Given the description of an element on the screen output the (x, y) to click on. 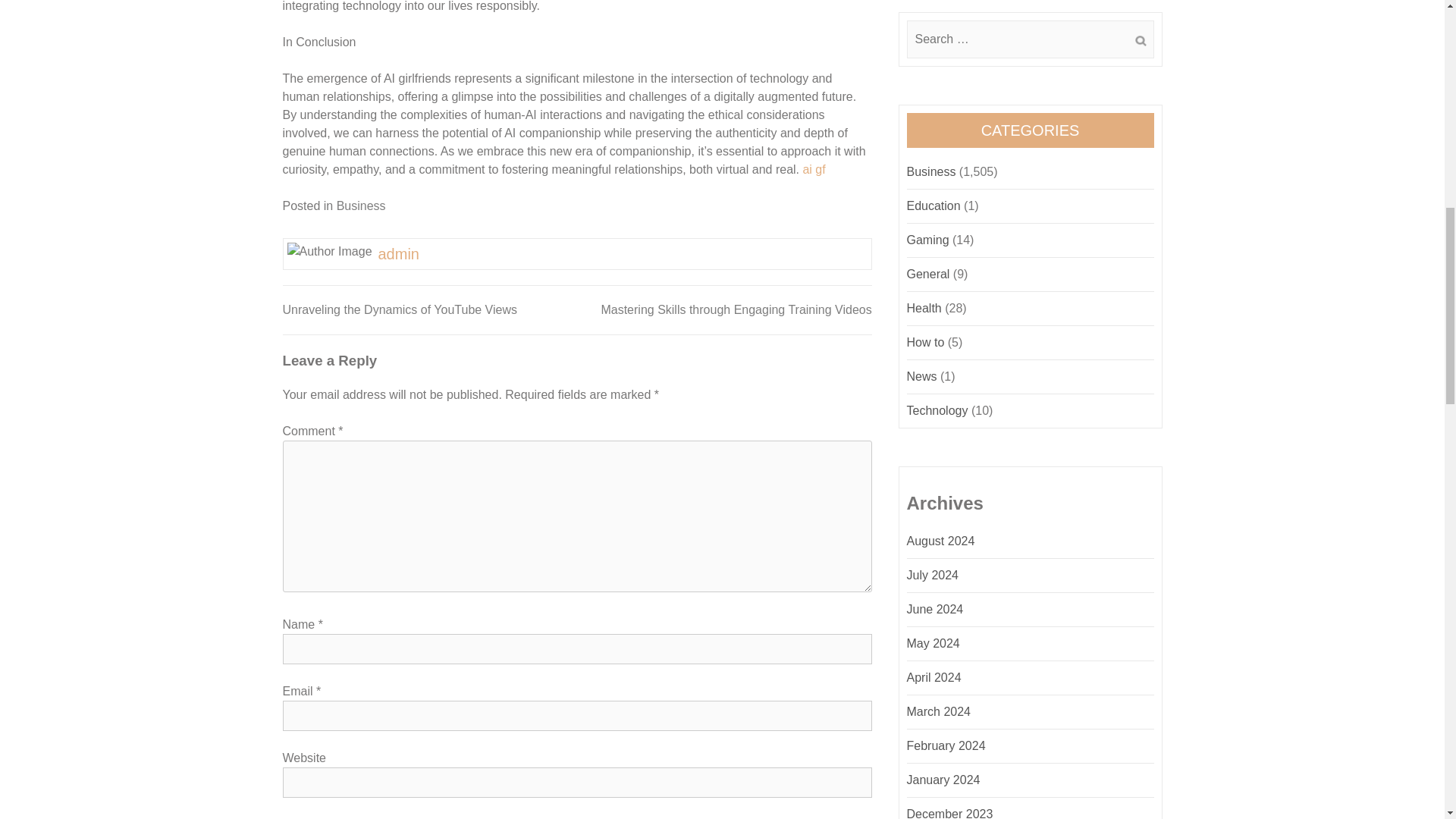
Search (1139, 41)
General (928, 273)
Unraveling the Dynamics of YouTube Views (399, 309)
Business (931, 171)
Gaming (928, 239)
Search (1139, 41)
Business (360, 205)
Health (924, 308)
ai gf (813, 169)
Mastering Skills through Engaging Training Videos (734, 309)
How to (925, 341)
Education (933, 205)
Search (1139, 41)
Author Image (328, 251)
